Given the description of an element on the screen output the (x, y) to click on. 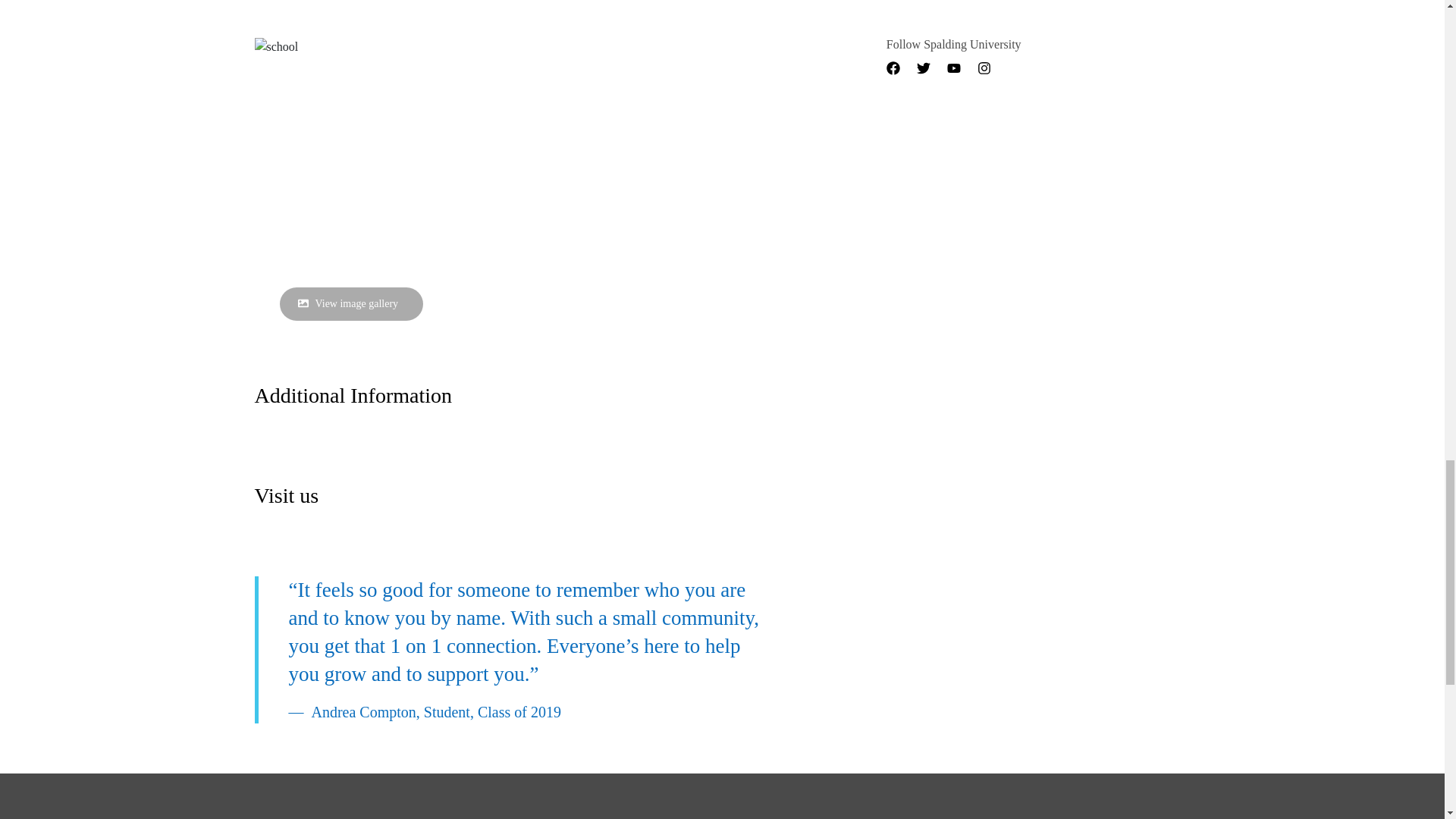
Twitter icon (923, 68)
Instagram icon (983, 68)
Facebook icon (892, 68)
Image icon (302, 303)
Youtube icon (953, 68)
